Given the description of an element on the screen output the (x, y) to click on. 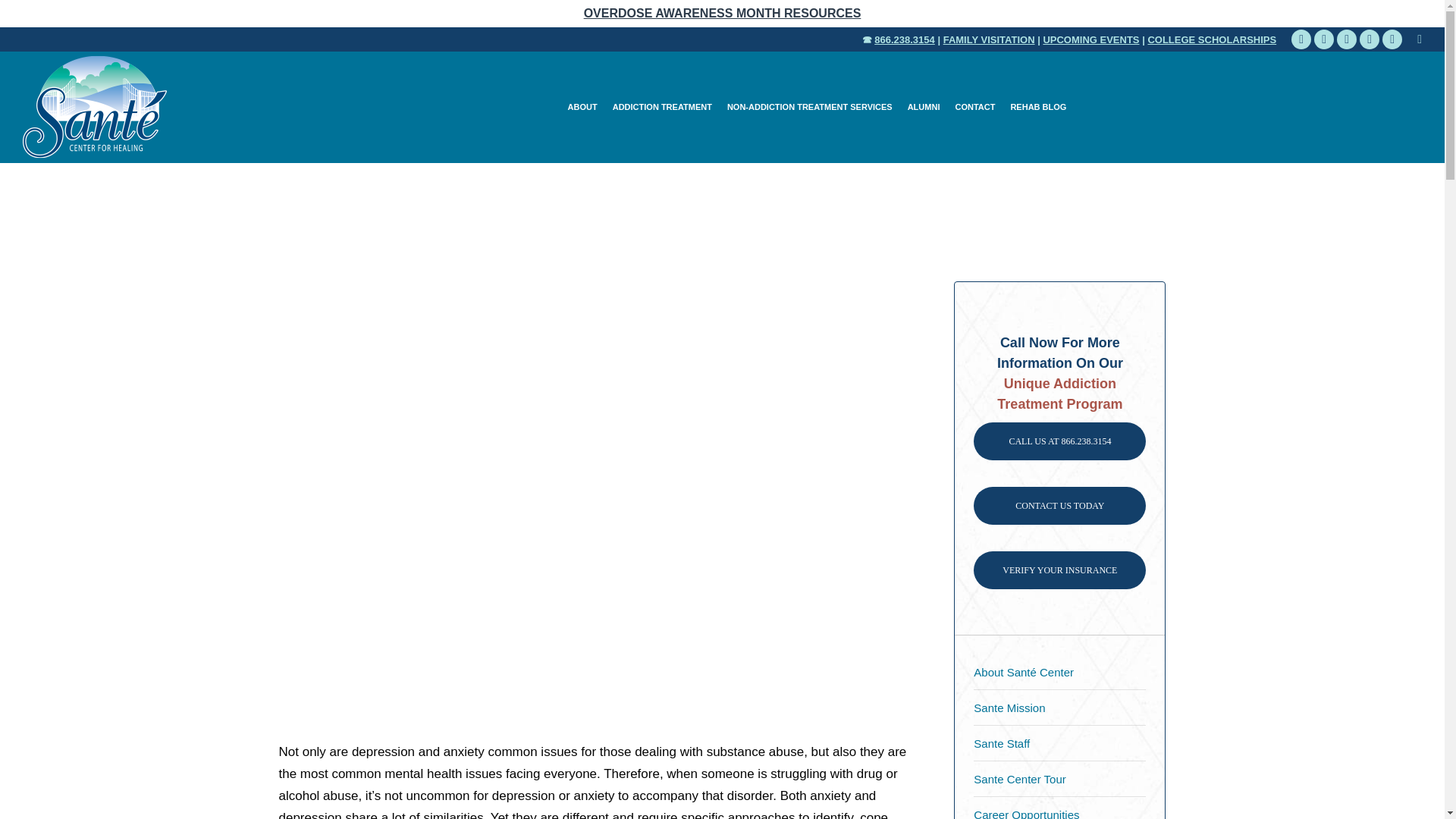
Instagram page opens in new window (1391, 39)
YouTube page opens in new window (1368, 39)
COLLEGE SCHOLARSHIPS (1211, 39)
Twitter page opens in new window (1323, 39)
UPCOMING EVENTS (1090, 39)
Facebook page opens in new window (1301, 39)
OVERDOSE AWARENESS MONTH RESOURCES (722, 13)
Linkedin page opens in new window (1346, 39)
Go! (23, 14)
Facebook page opens in new window (1301, 39)
